Given the description of an element on the screen output the (x, y) to click on. 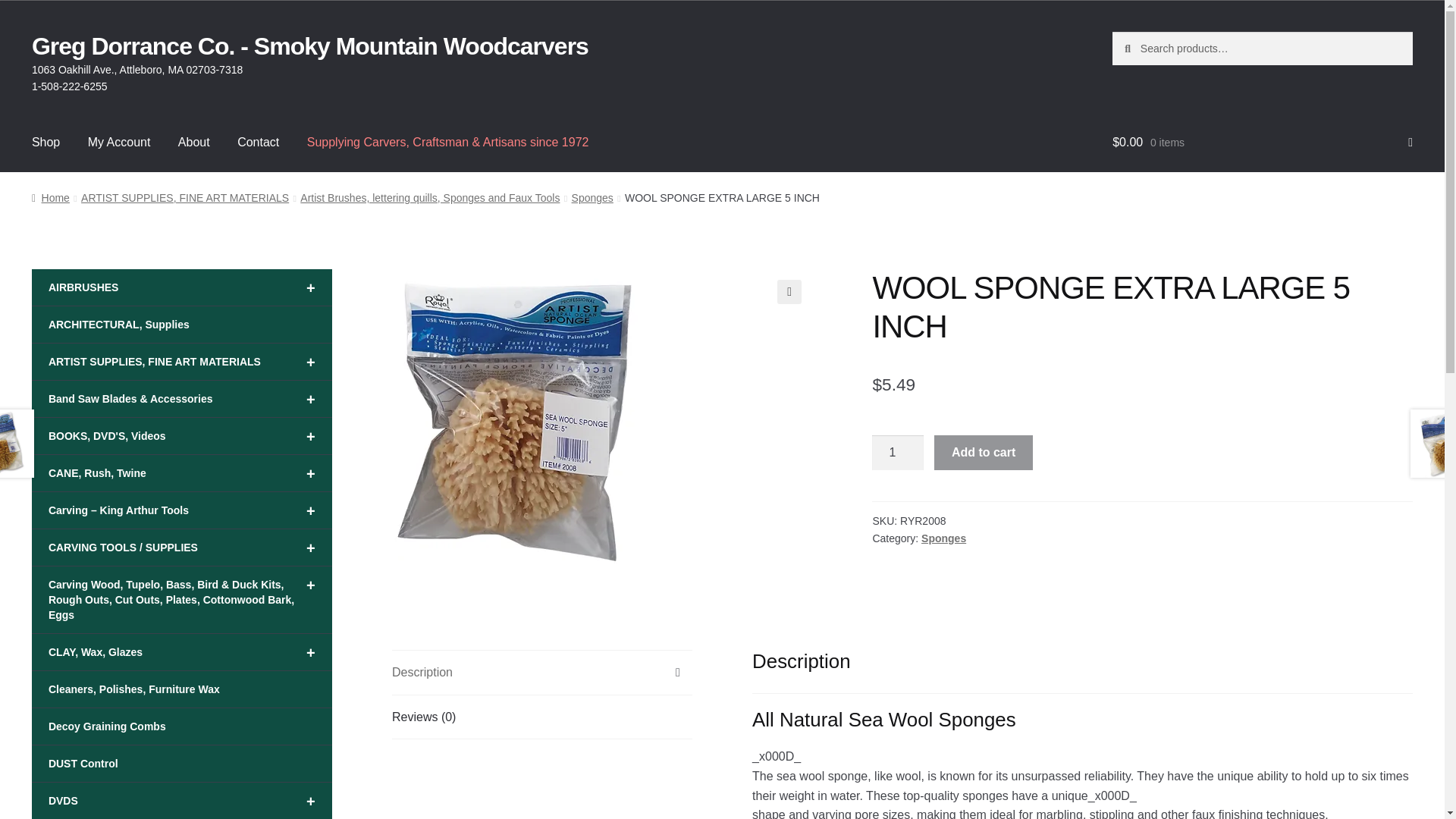
Artist Brushes, lettering quills, Sponges and Faux Tools (429, 197)
Sponges (943, 538)
Add to cart (983, 452)
1 (897, 452)
Description (542, 672)
ARTIST SUPPLIES, FINE ART MATERIALS (184, 197)
Greg Dorrance Co. - Smoky Mountain Woodcarvers (310, 45)
Contact (258, 142)
View your shopping cart (1262, 142)
About (193, 142)
Sponges (592, 197)
Home (50, 197)
My Account (119, 142)
